Given the description of an element on the screen output the (x, y) to click on. 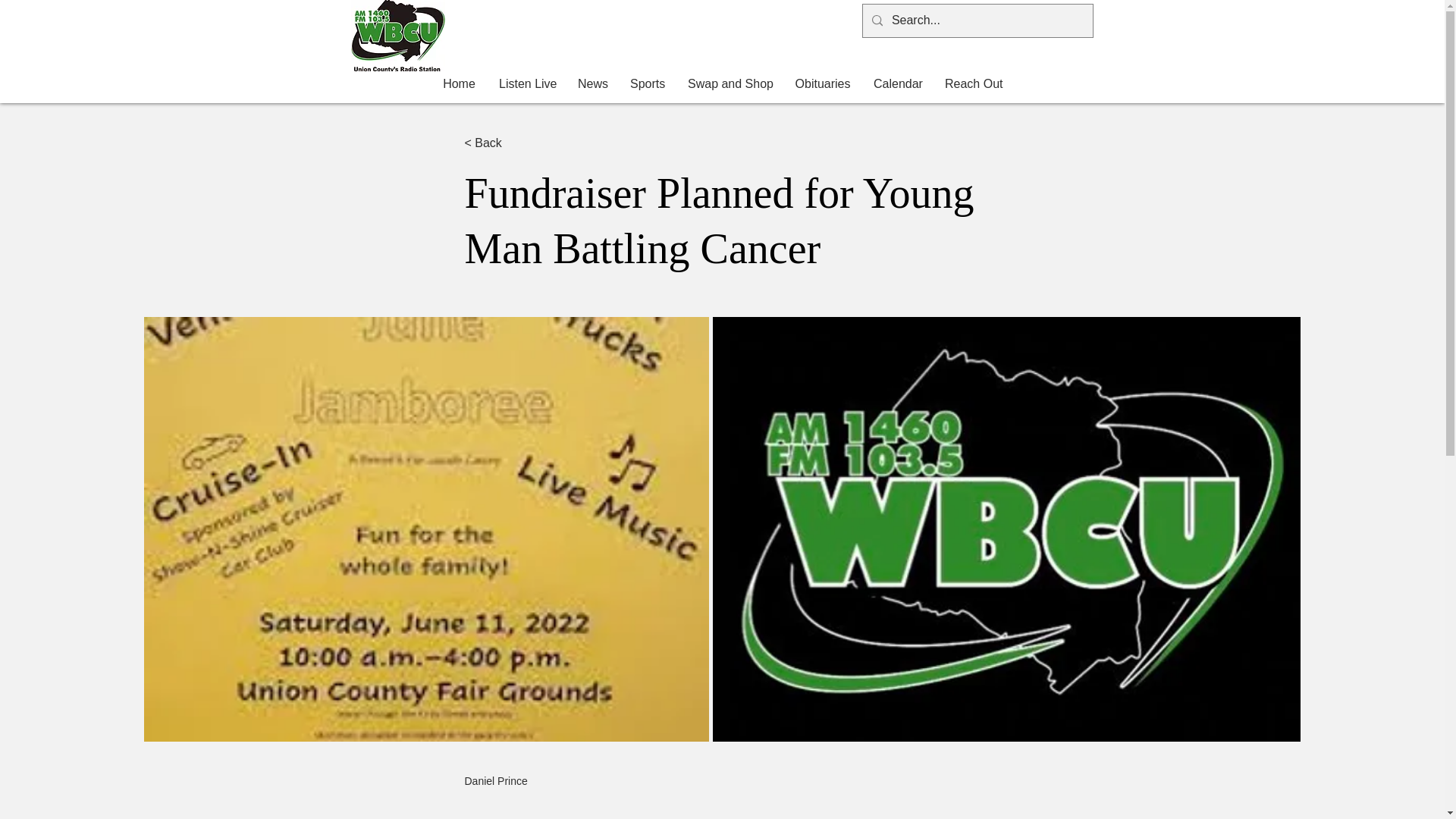
Home (458, 84)
Listen Live (526, 84)
News (592, 84)
Calendar (897, 84)
Obituaries (822, 84)
Swap and Shop (730, 84)
